Given the description of an element on the screen output the (x, y) to click on. 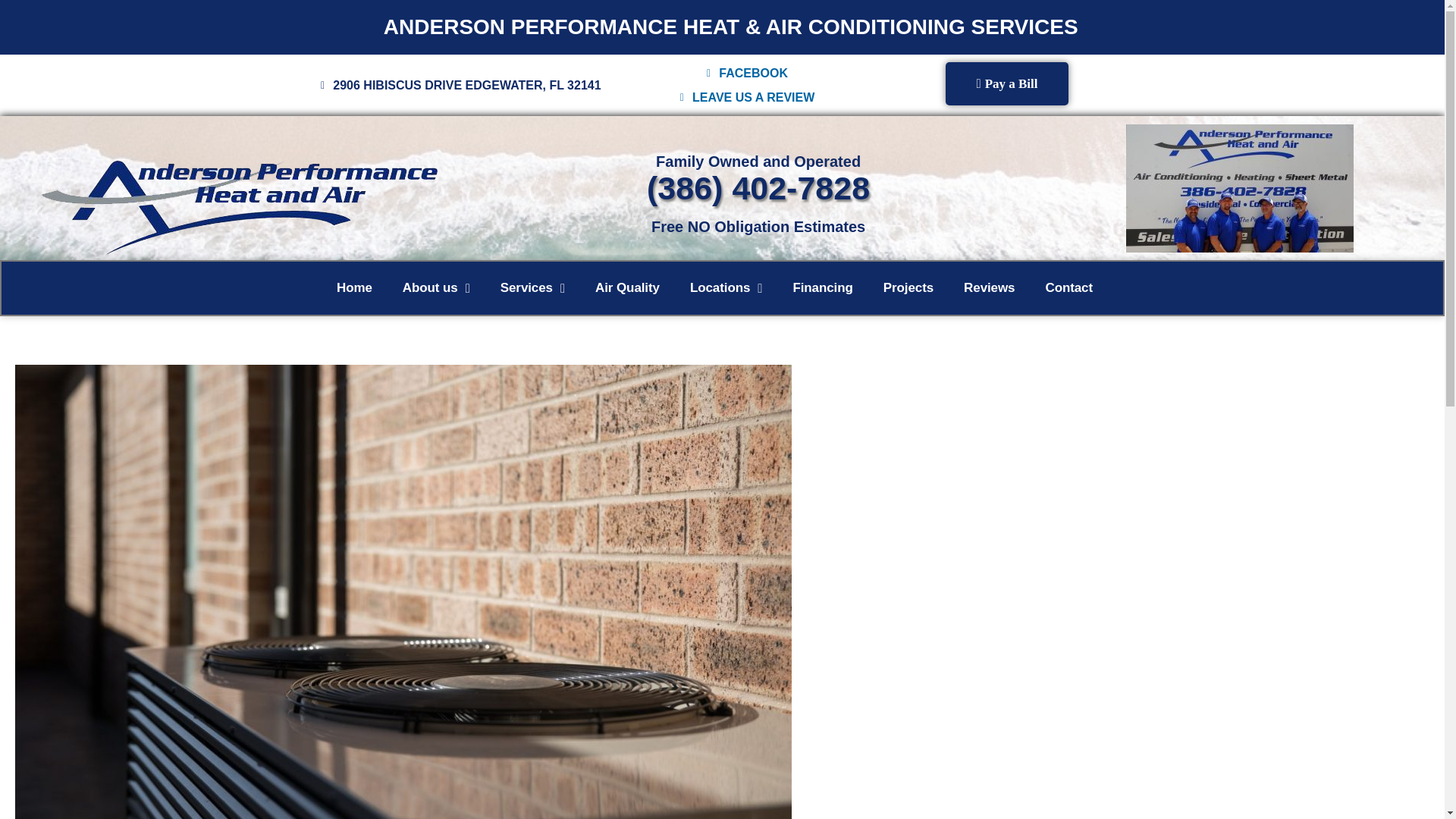
Pay a Bill (1005, 82)
LEAVE US A REVIEW (745, 97)
FACEBOOK (745, 73)
